Given the description of an element on the screen output the (x, y) to click on. 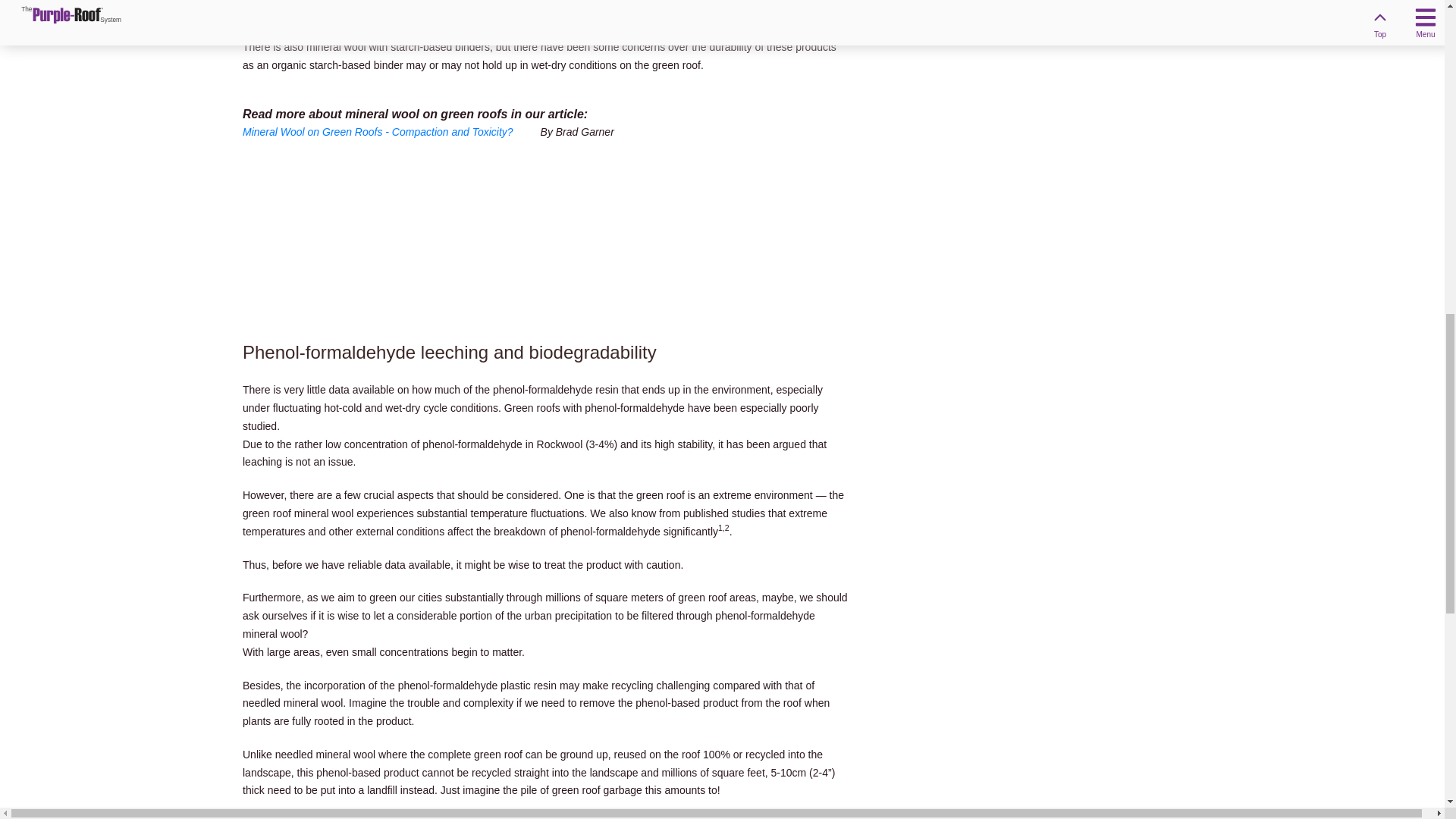
Mineral Wool on Green Roofs - Compaction and Toxicity? (390, 132)
Read more about mineral wool! (390, 132)
Declared (302, 13)
Declaration for Red List Free Mineral Wool (302, 13)
Declare label (385, 13)
This is Declare (385, 13)
